Given the description of an element on the screen output the (x, y) to click on. 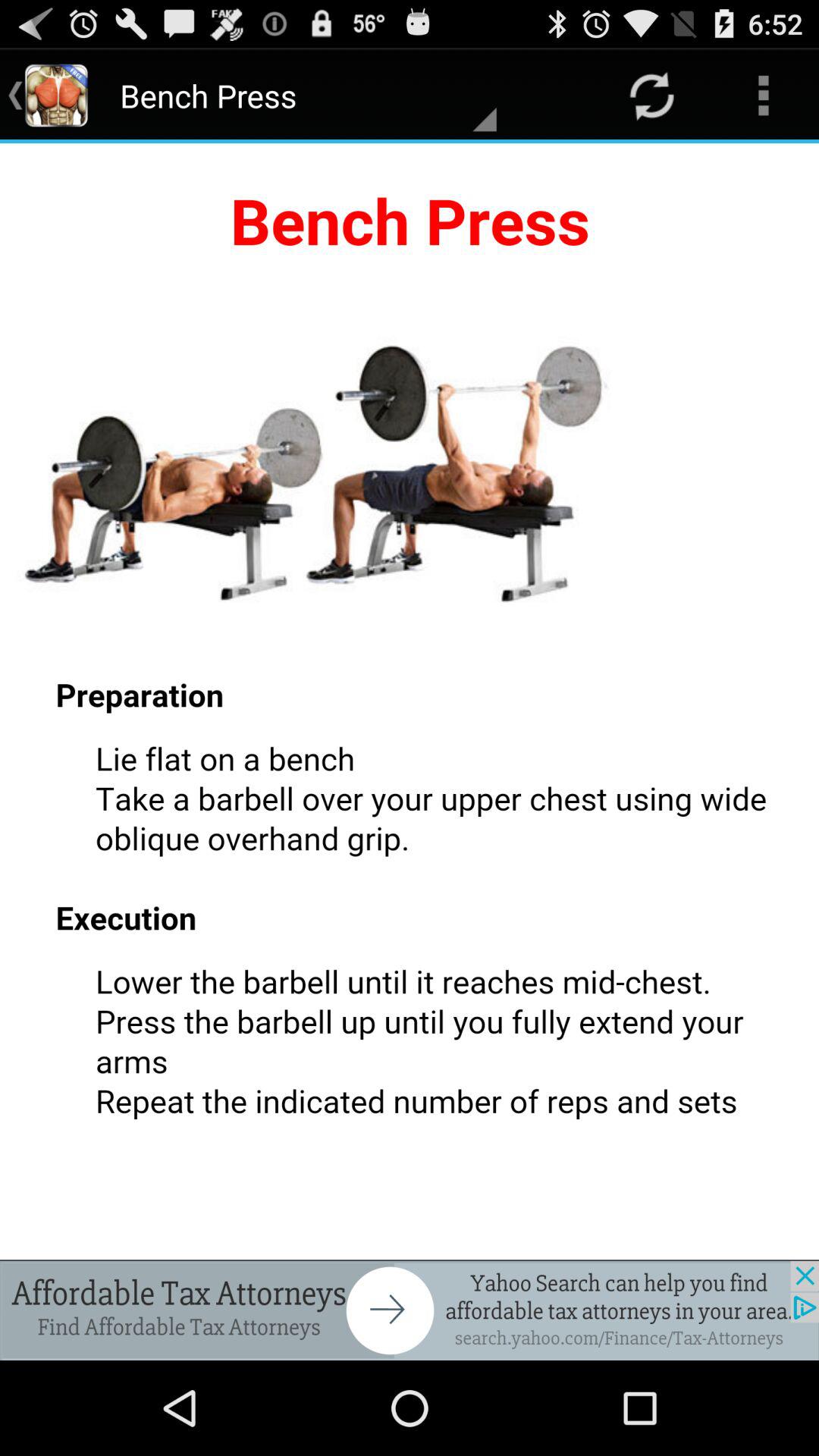
open advertisement (409, 1310)
